Given the description of an element on the screen output the (x, y) to click on. 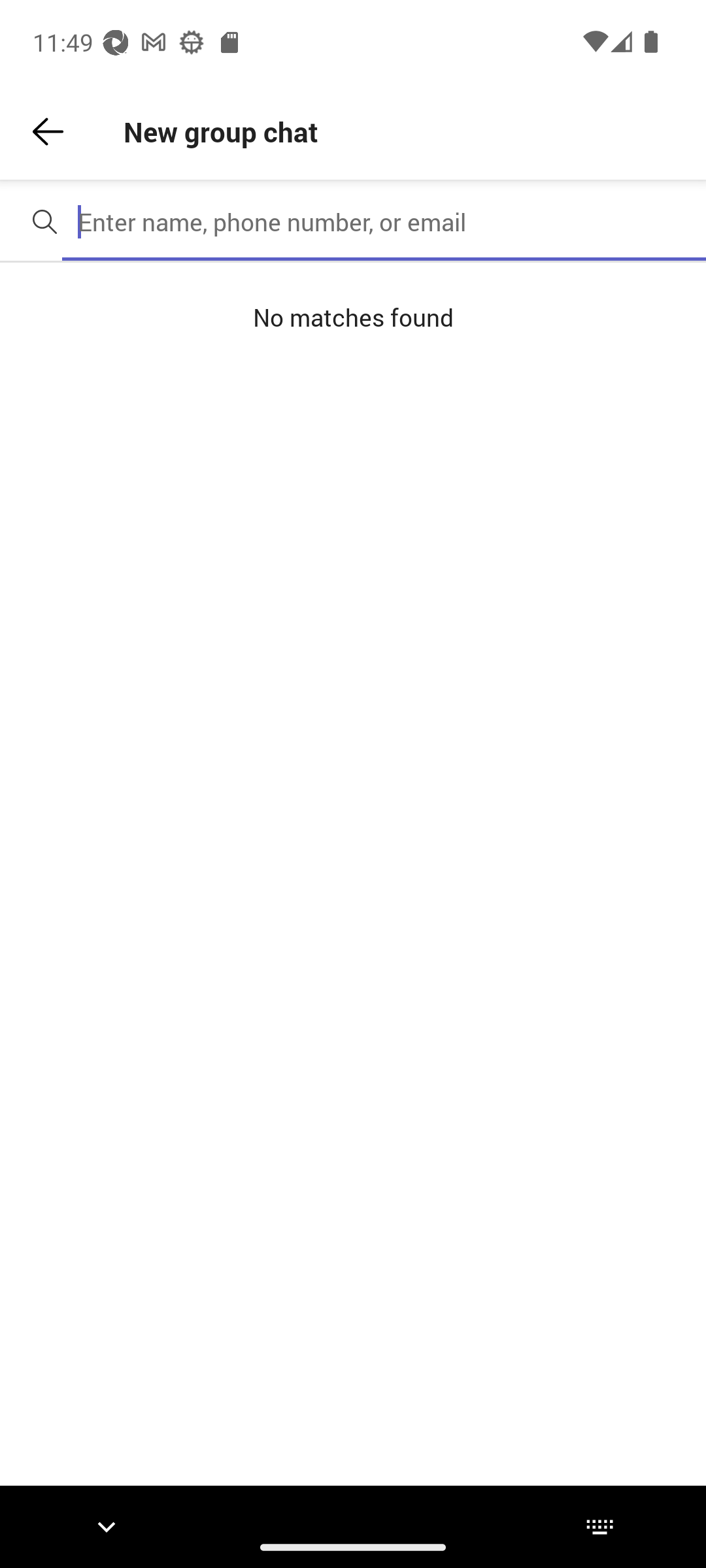
Back (48, 131)
Enter name, phone number, or email (384, 221)
No matches found (353, 318)
